Given the description of an element on the screen output the (x, y) to click on. 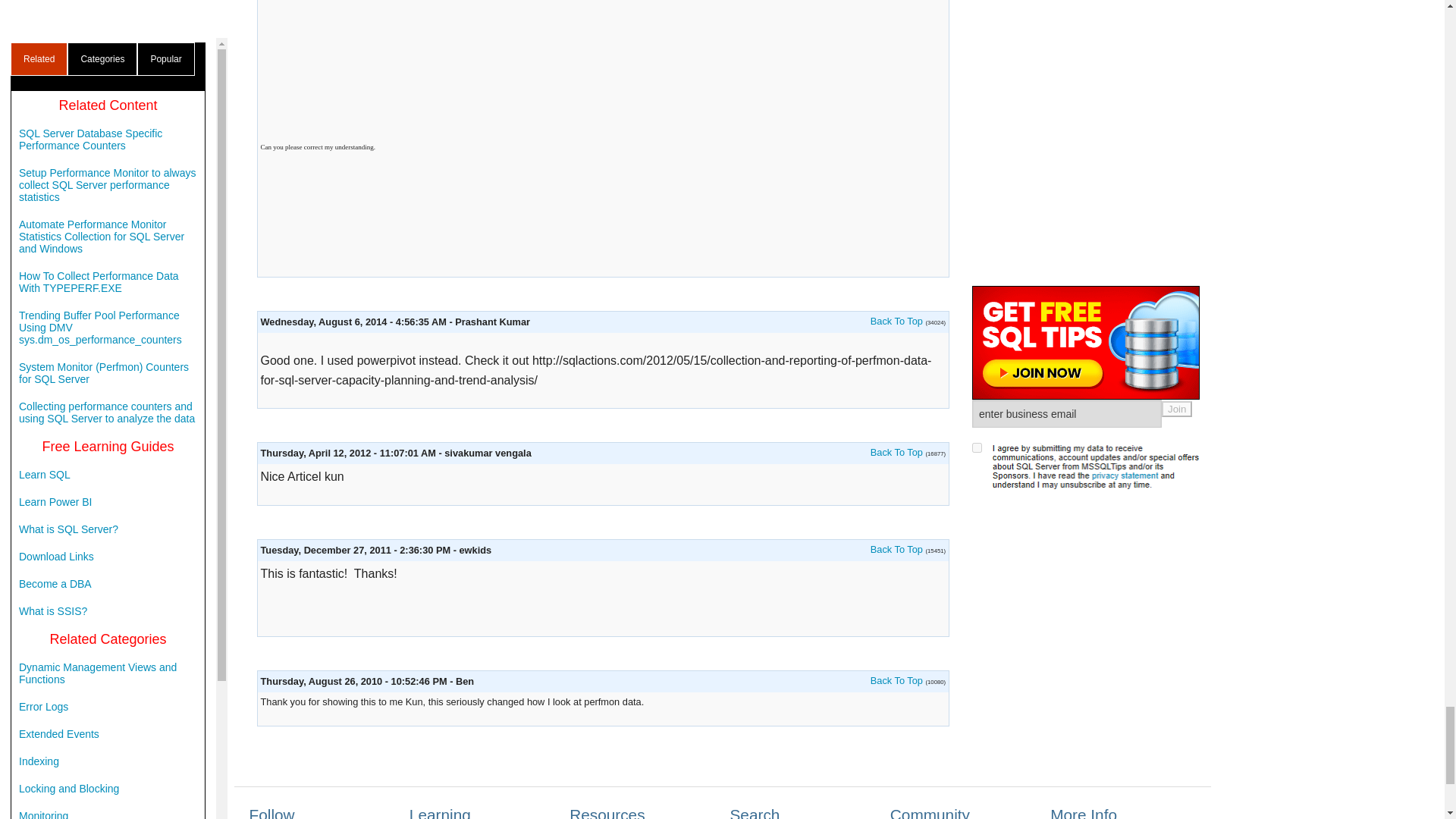
read the tip (896, 451)
read the tip (896, 549)
read the tip (896, 680)
read the tip (896, 320)
